Given the description of an element on the screen output the (x, y) to click on. 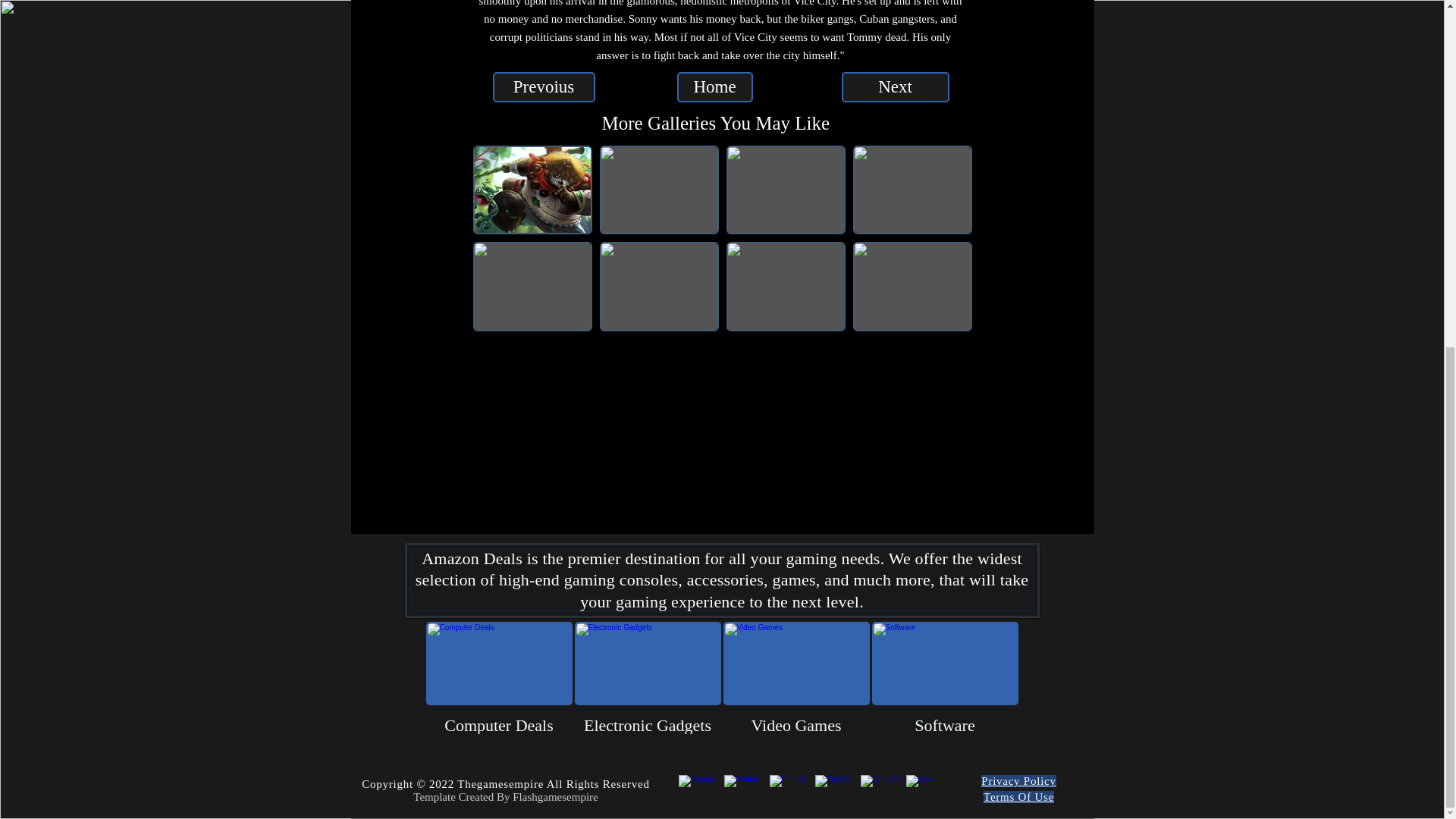
Home (714, 87)
Privacy Policy (1018, 780)
Next (895, 87)
Terms Of Use (1019, 797)
Electronic Gadgets (647, 680)
Video Games (796, 680)
Computer Deals (499, 680)
Software (944, 680)
Prevoius (544, 87)
